Given the description of an element on the screen output the (x, y) to click on. 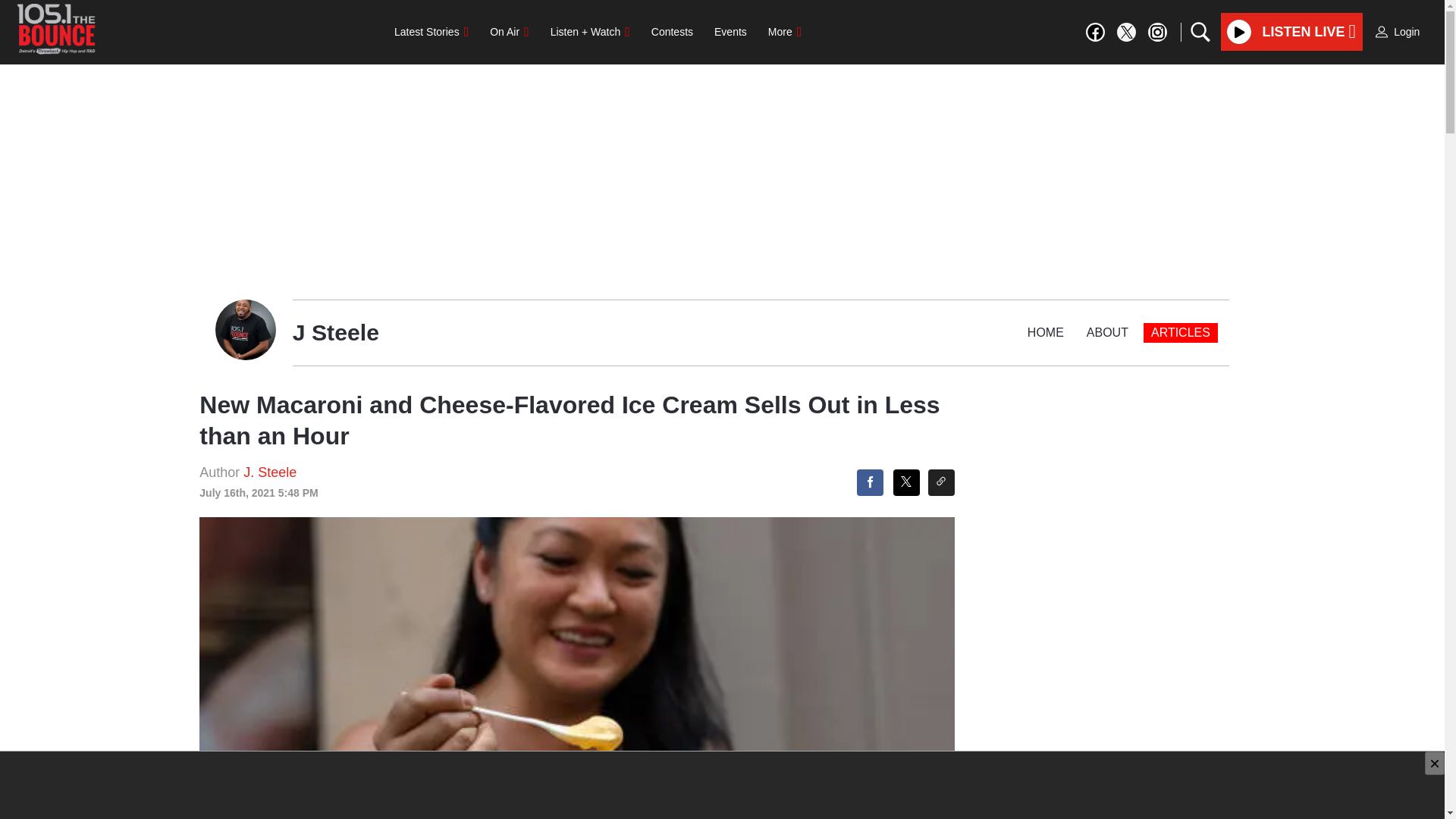
More (784, 31)
Events (730, 31)
Close AdCheckmark indicating ad close (1434, 763)
J. Steele (270, 472)
Contests (671, 31)
Latest Stories (431, 31)
On Air (508, 31)
